Given the description of an element on the screen output the (x, y) to click on. 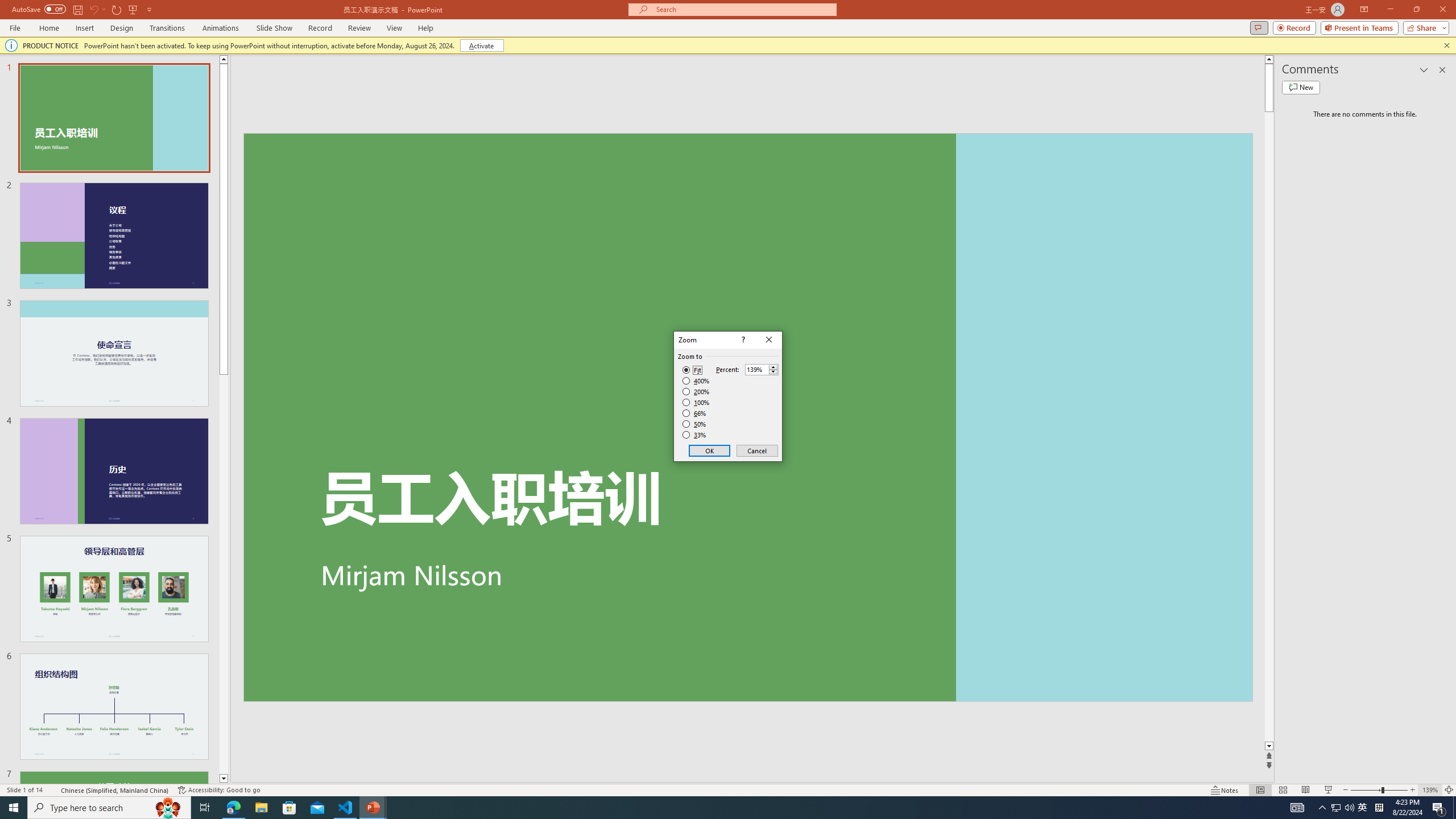
Office (491, 118)
macOS (338, 333)
Buy Microsoft 365 (1000, 119)
